Given the description of an element on the screen output the (x, y) to click on. 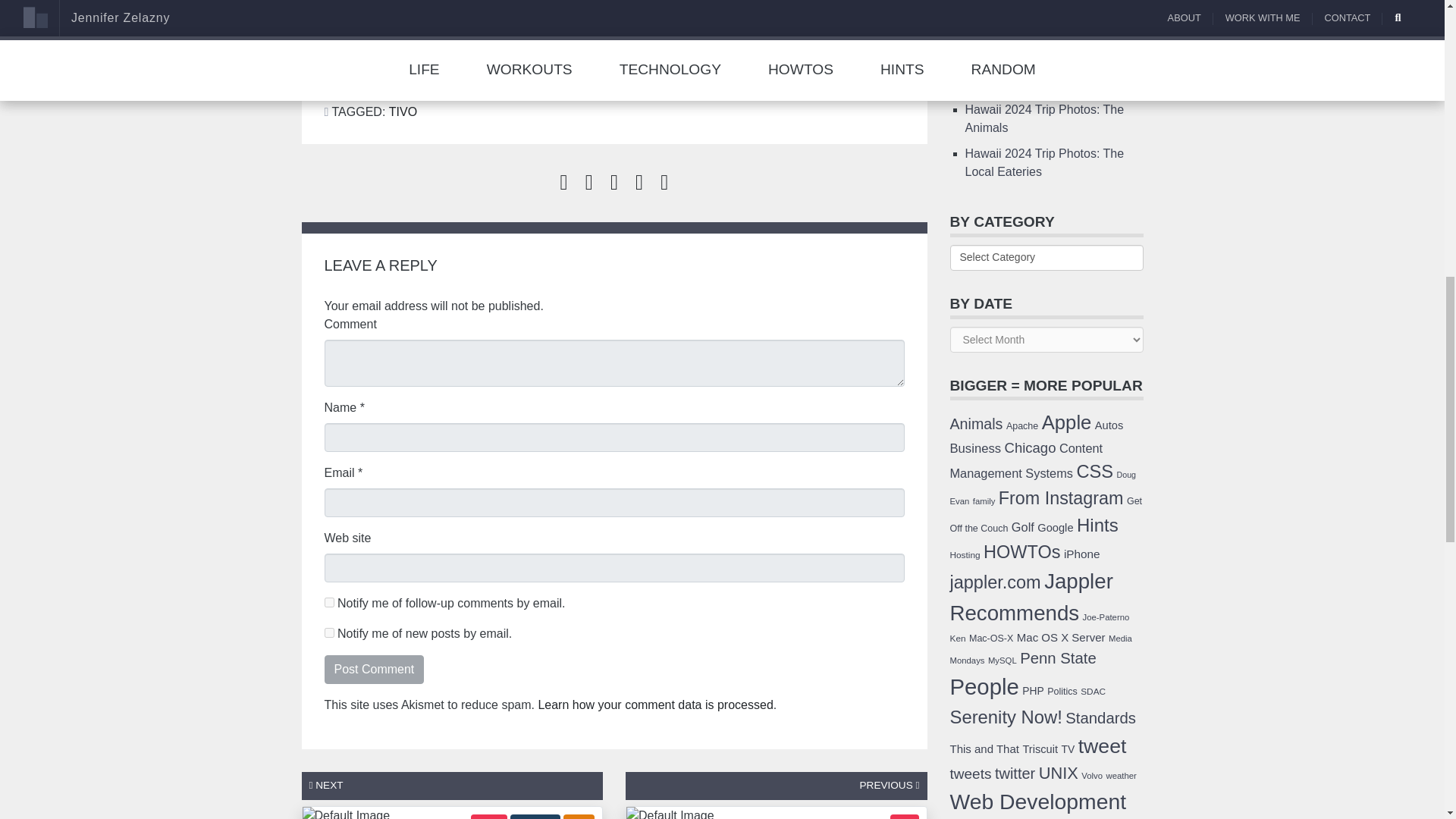
NEXT (325, 785)
Post Comment (374, 669)
Learn how your comment data is processed (655, 704)
HINTS (488, 816)
subscribe (329, 633)
Post Comment (374, 669)
UNIX (578, 816)
PREVIOUS (890, 785)
TIVO (402, 111)
HOWTOS (535, 816)
